Given the description of an element on the screen output the (x, y) to click on. 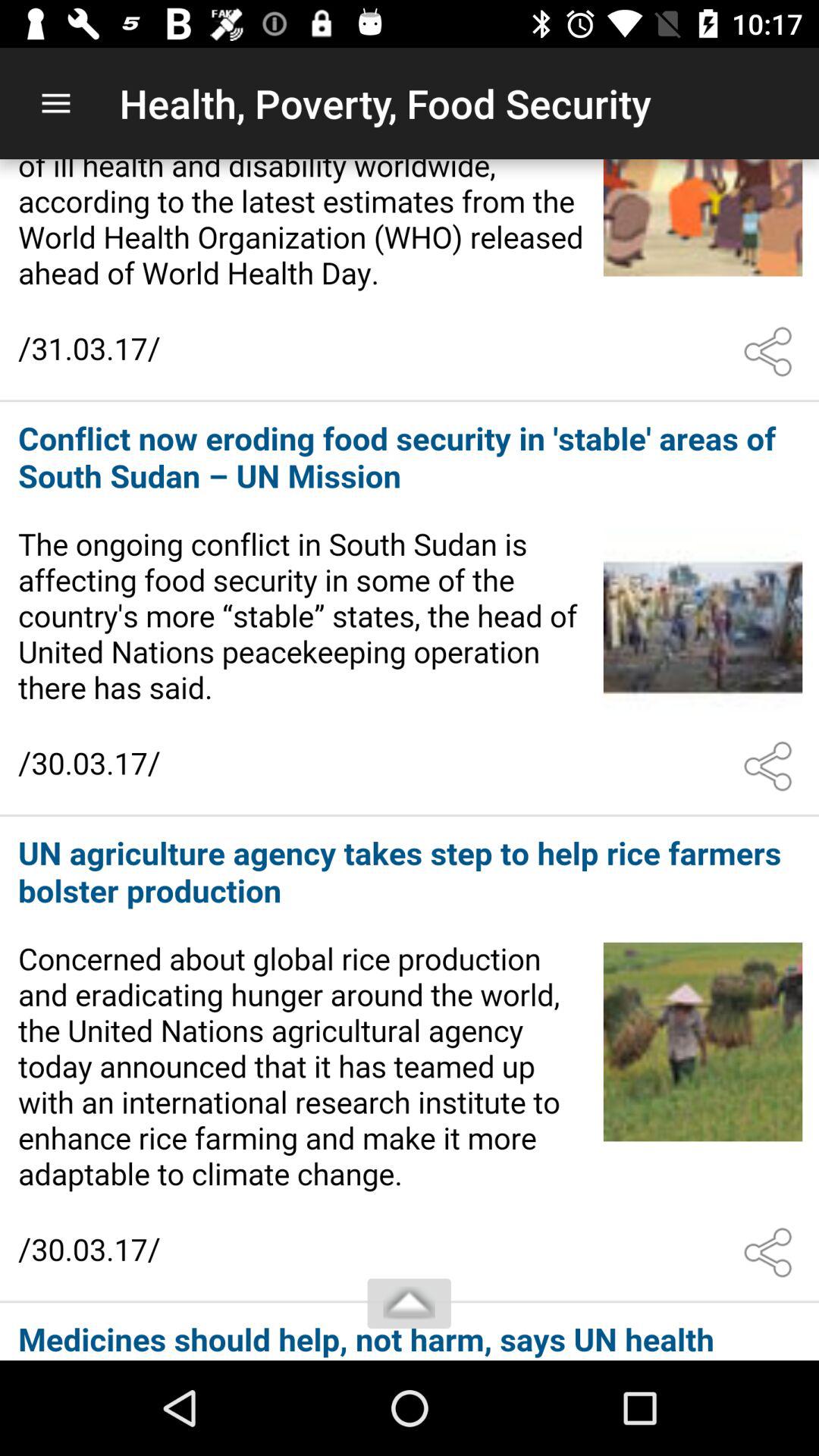
view the adversitement (409, 1332)
